Given the description of an element on the screen output the (x, y) to click on. 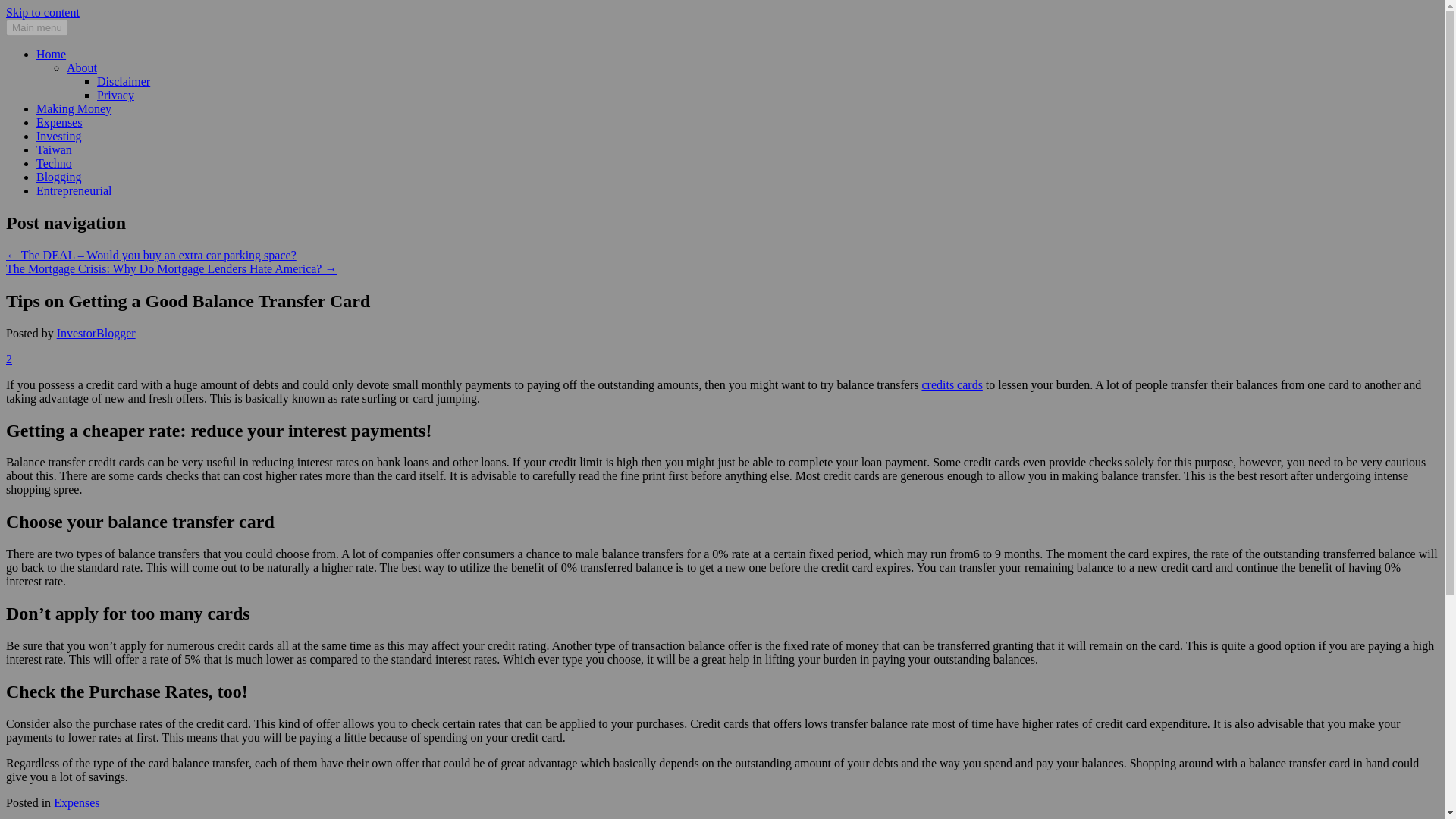
Entrepreneurial (74, 190)
Skip to content (42, 11)
credits cards (951, 384)
It starts right here! (50, 53)
Skip to content (42, 11)
Taiwan (53, 149)
Disclaimer (123, 81)
2 (8, 358)
Investor Blogger Dot Com (141, 35)
InvestorBlogger (95, 332)
Investor Blogger Dot Com (141, 35)
View all posts by InvestorBlogger (95, 332)
About (81, 67)
Expenses (76, 802)
Techno (53, 163)
